Given the description of an element on the screen output the (x, y) to click on. 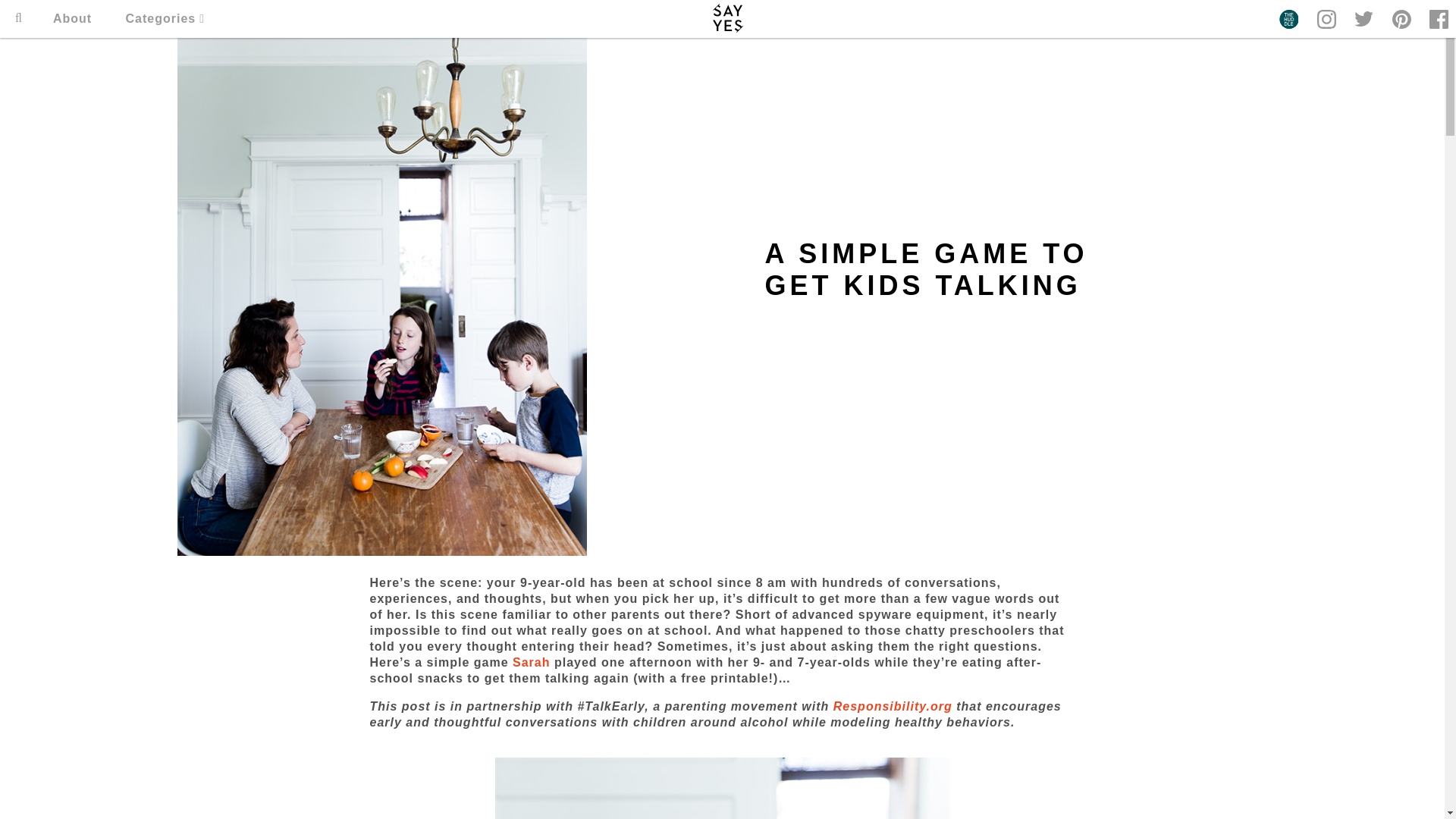
Categories (165, 18)
Sarah (531, 662)
About (71, 18)
Responsibility.org (892, 706)
